Given the description of an element on the screen output the (x, y) to click on. 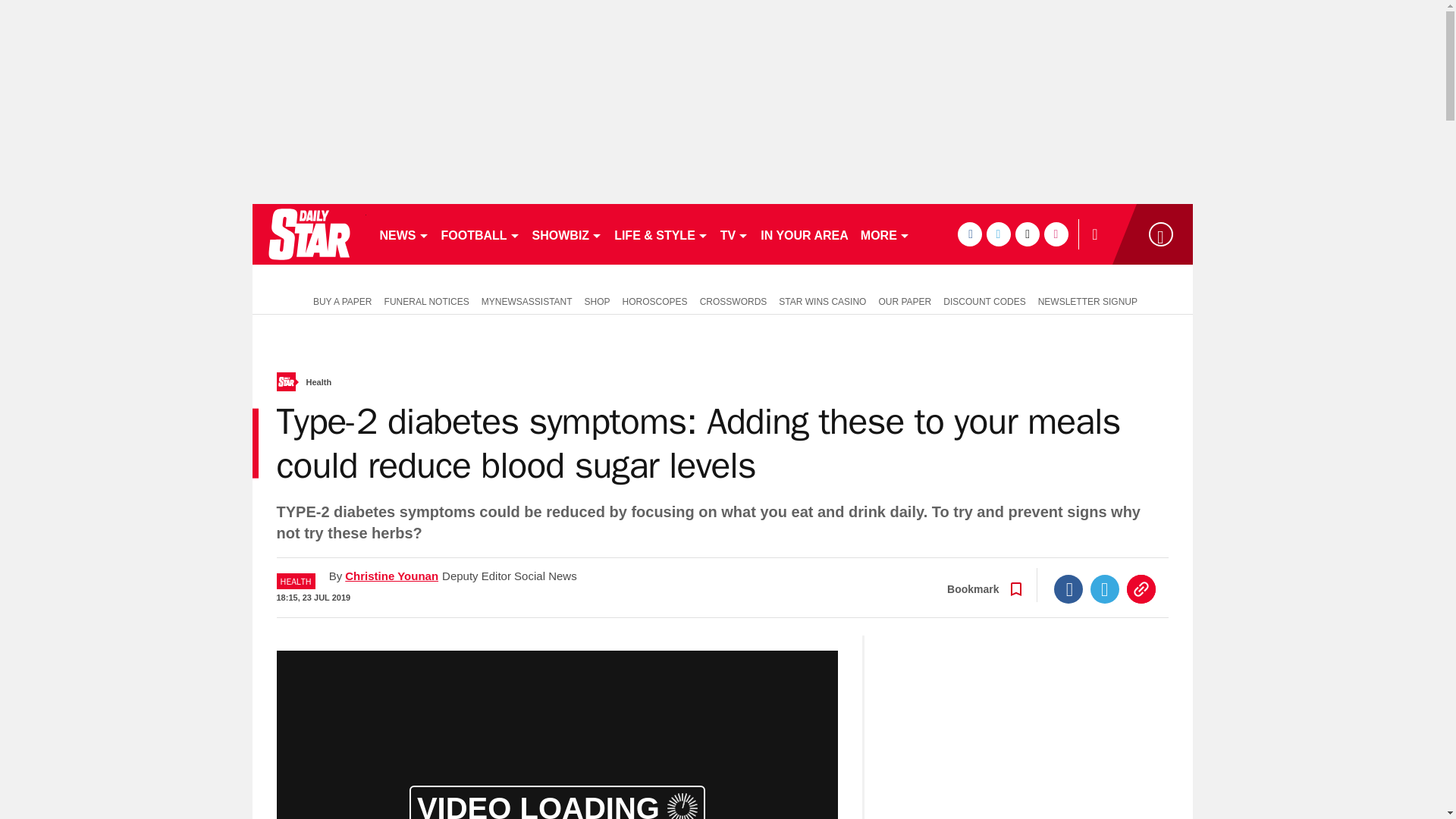
instagram (1055, 233)
Twitter (1104, 588)
facebook (968, 233)
NEWS (402, 233)
Facebook (1068, 588)
tiktok (1026, 233)
dailystar (308, 233)
twitter (997, 233)
SHOWBIZ (566, 233)
FOOTBALL (480, 233)
